Given the description of an element on the screen output the (x, y) to click on. 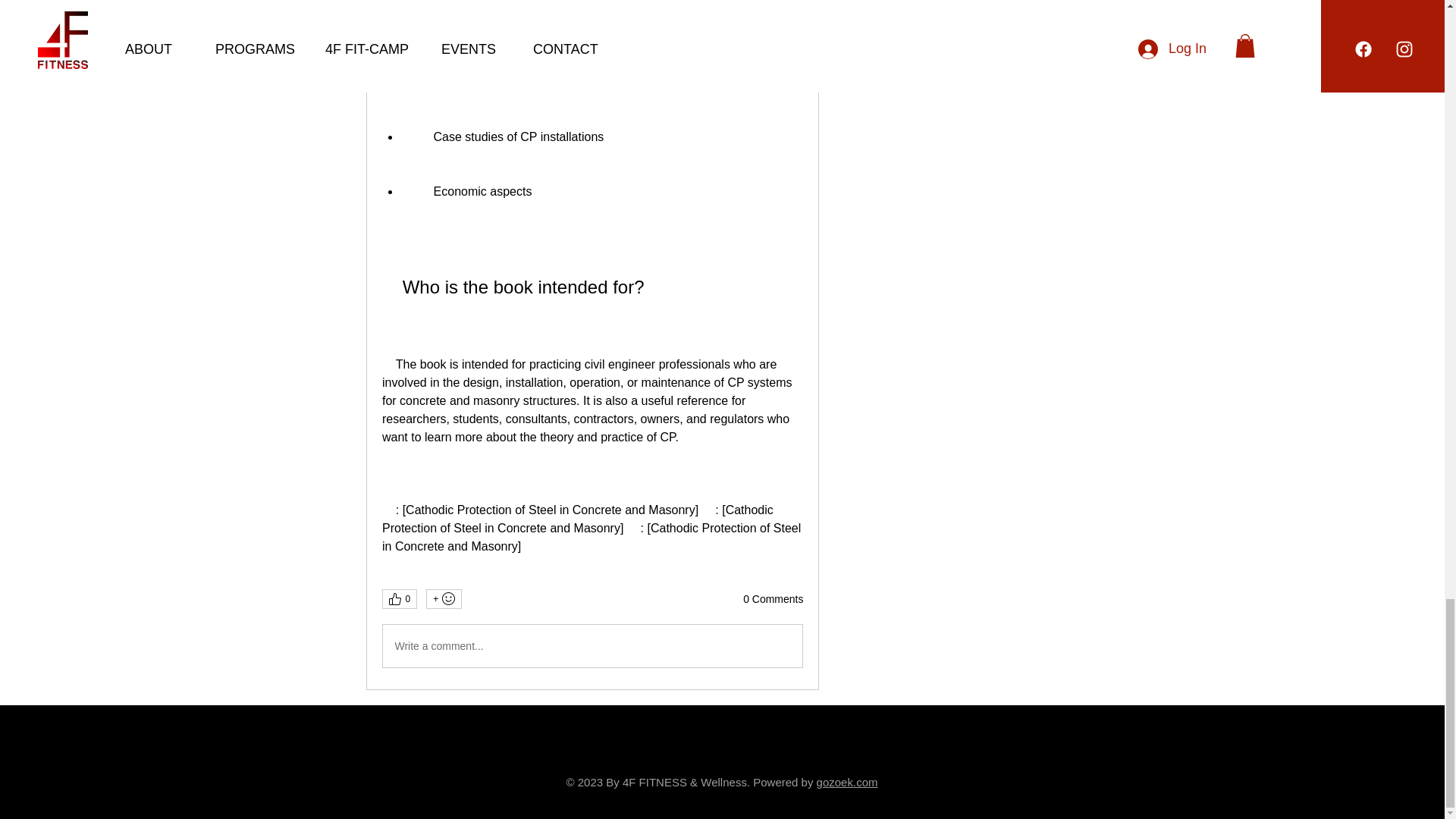
0 Comments (772, 599)
Write a comment... (591, 645)
